Given the description of an element on the screen output the (x, y) to click on. 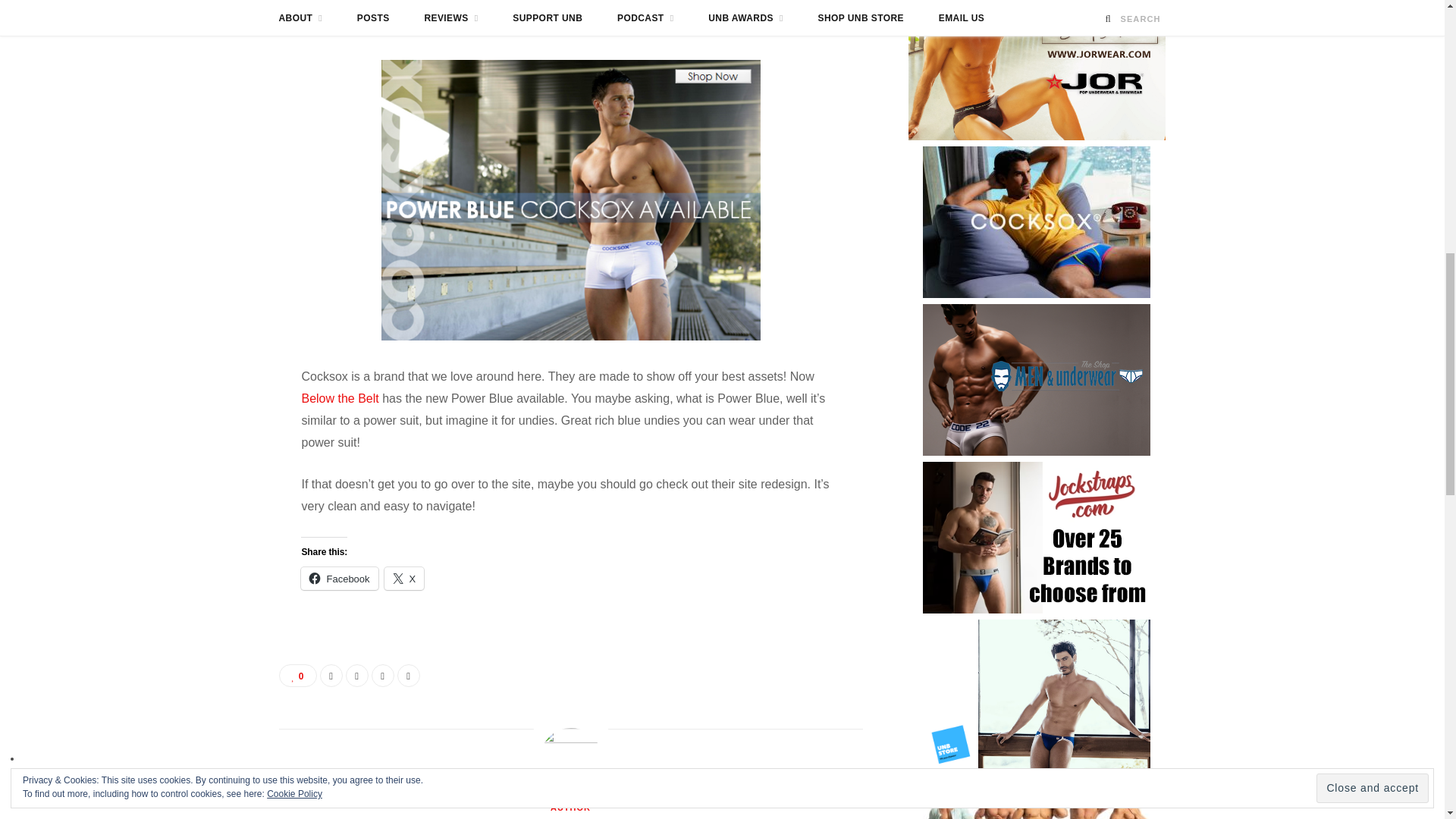
Click to share on Facebook (339, 578)
Share on Twitter (357, 675)
Email (408, 675)
Click to share on X (404, 578)
New Cocksox Power Blue Range Available at Below the Belt (571, 3)
Pinterest (382, 675)
COCKSOXBANNER (570, 199)
Share on Facebook (331, 675)
Posts by UNBTim (570, 818)
